Given the description of an element on the screen output the (x, y) to click on. 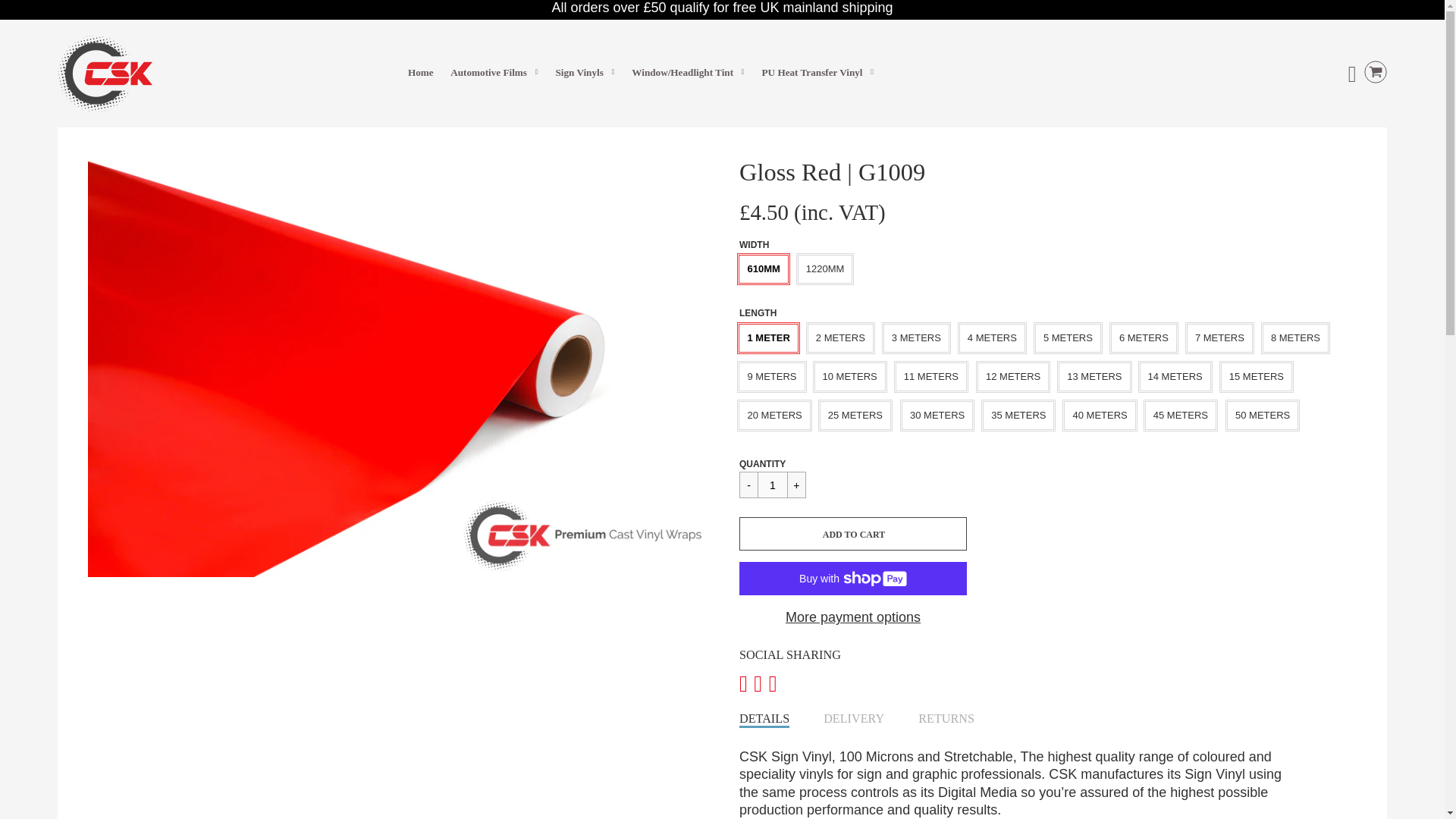
Pin on Pinterest (772, 683)
Sign Vinyls (584, 72)
- (748, 484)
Share on Facebook (746, 683)
Automotive Films (493, 72)
1 (772, 484)
Home (420, 71)
Tweet on Twitter (761, 683)
